Given the description of an element on the screen output the (x, y) to click on. 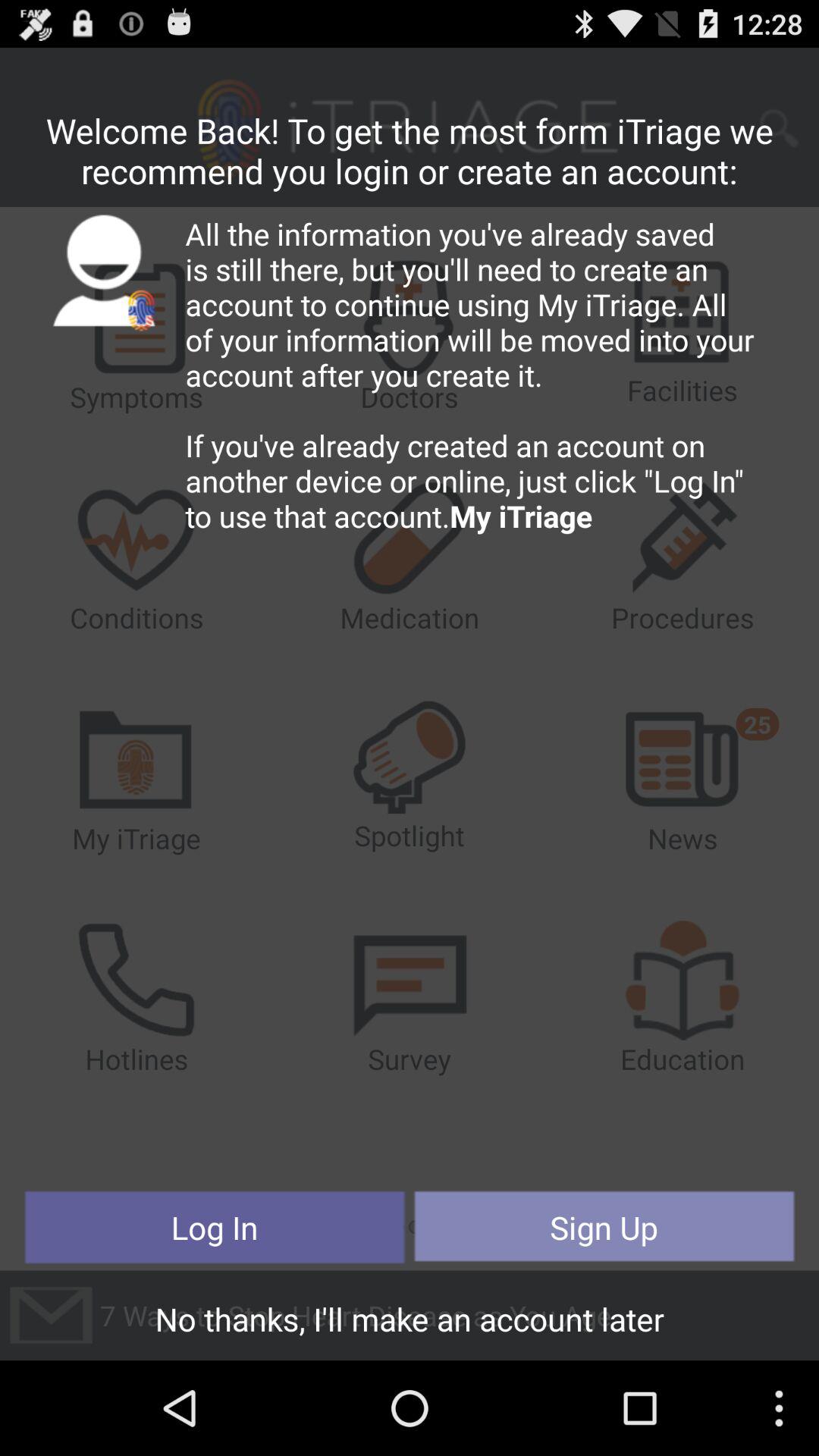
turn off button below the log in item (409, 1323)
